Given the description of an element on the screen output the (x, y) to click on. 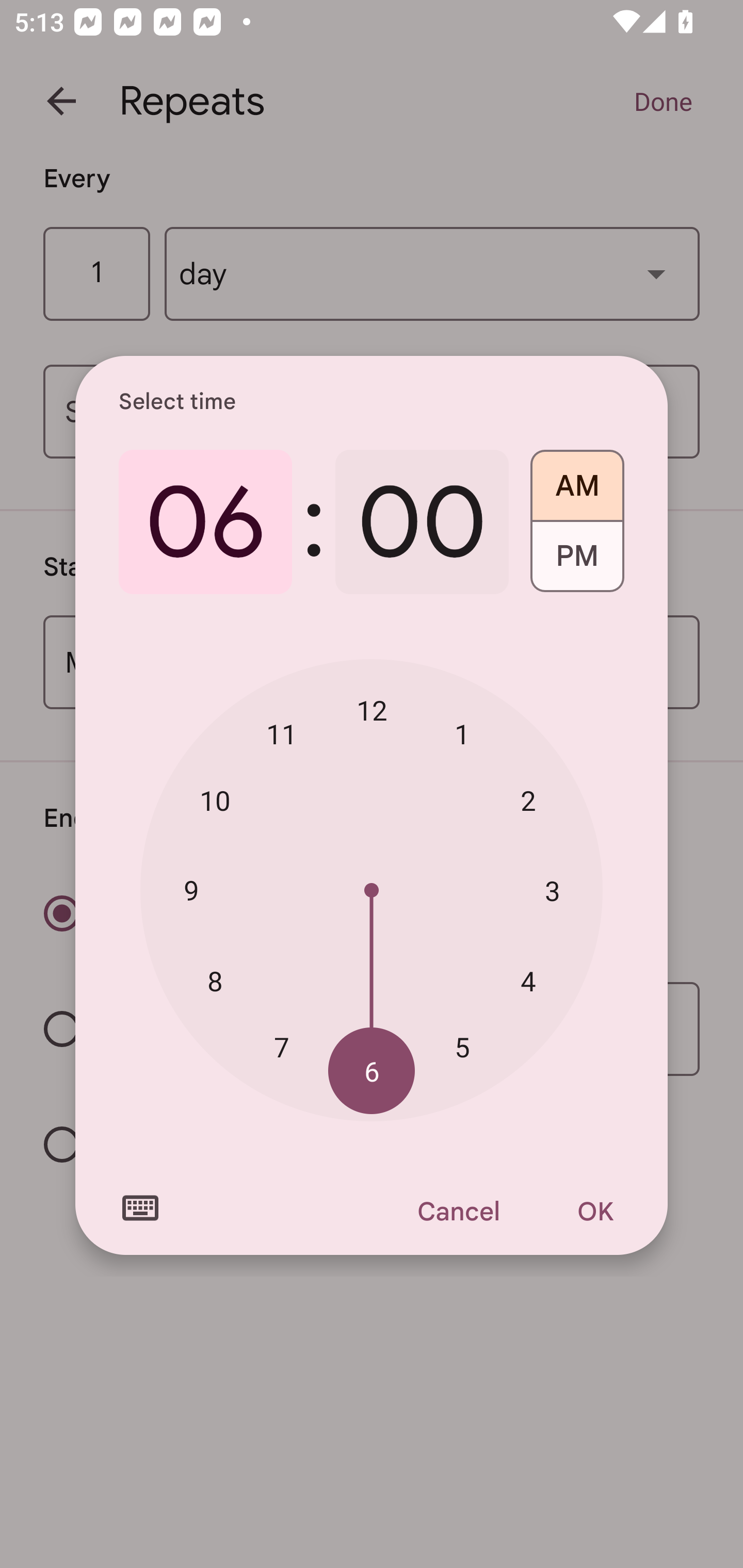
AM (577, 478)
06 6 o'clock (204, 522)
00 0 minutes (421, 522)
PM (577, 563)
12 12 o'clock (371, 710)
11 11 o'clock (281, 733)
1 1 o'clock (462, 733)
10 10 o'clock (214, 800)
2 2 o'clock (528, 800)
9 9 o'clock (190, 889)
3 3 o'clock (551, 890)
8 8 o'clock (214, 980)
4 4 o'clock (528, 980)
7 7 o'clock (281, 1046)
5 5 o'clock (462, 1046)
6 6 o'clock (371, 1071)
Switch to text input mode for the time input. (140, 1208)
Cancel (458, 1211)
OK (595, 1211)
